Given the description of an element on the screen output the (x, y) to click on. 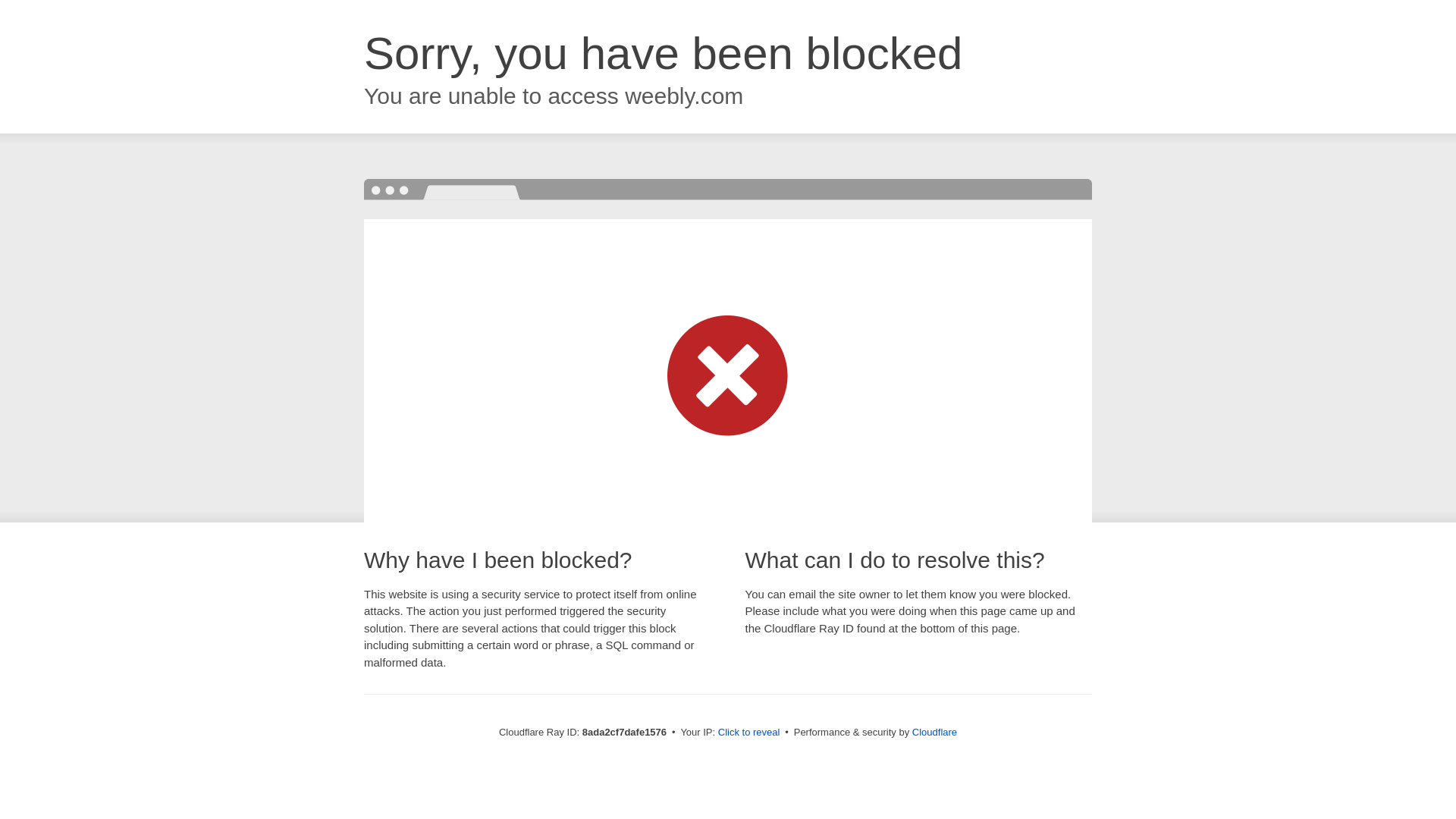
Click to reveal (748, 732)
Cloudflare (934, 731)
